Given the description of an element on the screen output the (x, y) to click on. 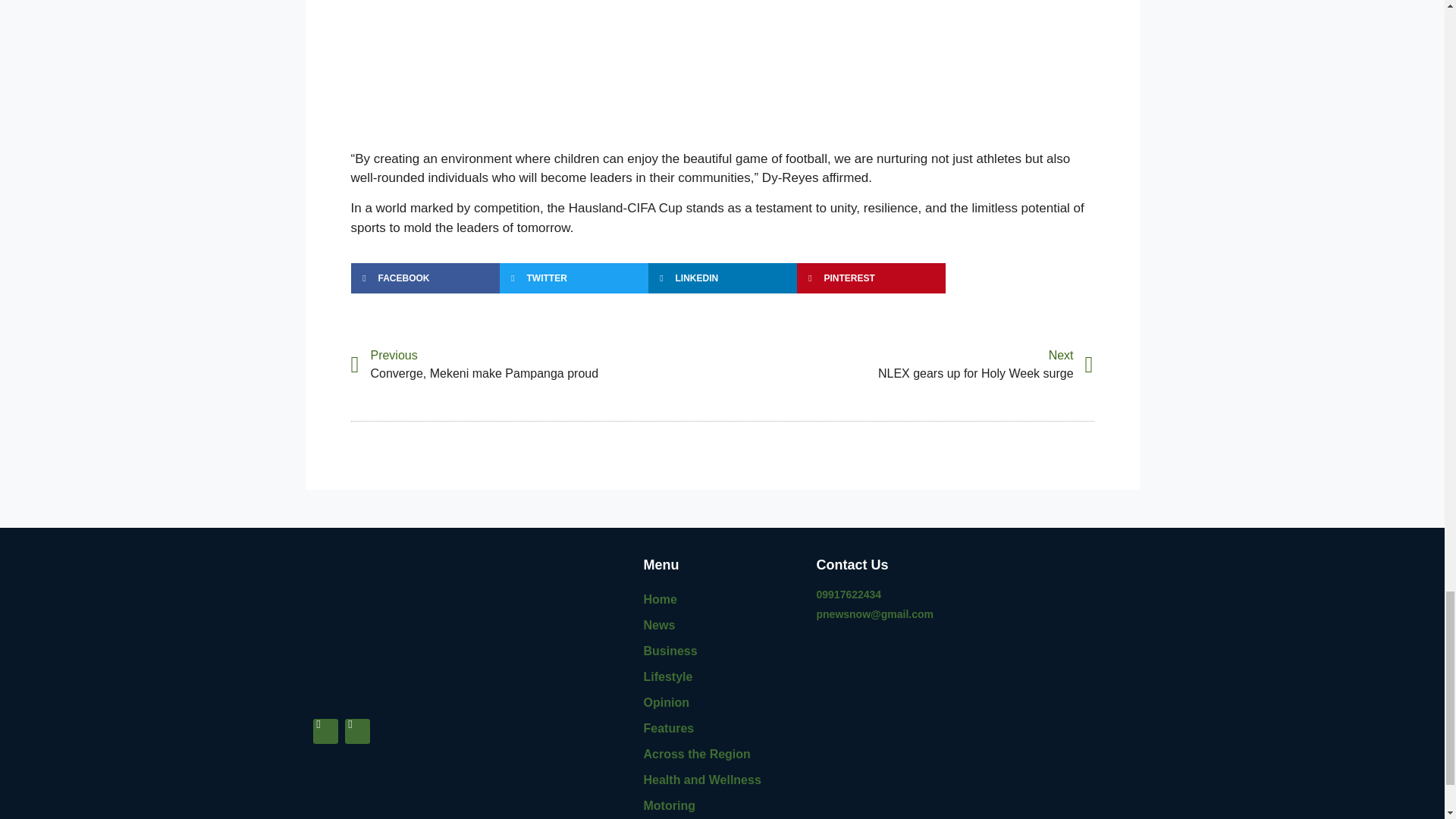
Across the Region (721, 754)
News (721, 625)
Business (721, 651)
Health and Wellness (721, 780)
Motoring (536, 364)
Features (721, 806)
Lifestyle (721, 728)
Opinion (907, 364)
Home (721, 677)
